Given the description of an element on the screen output the (x, y) to click on. 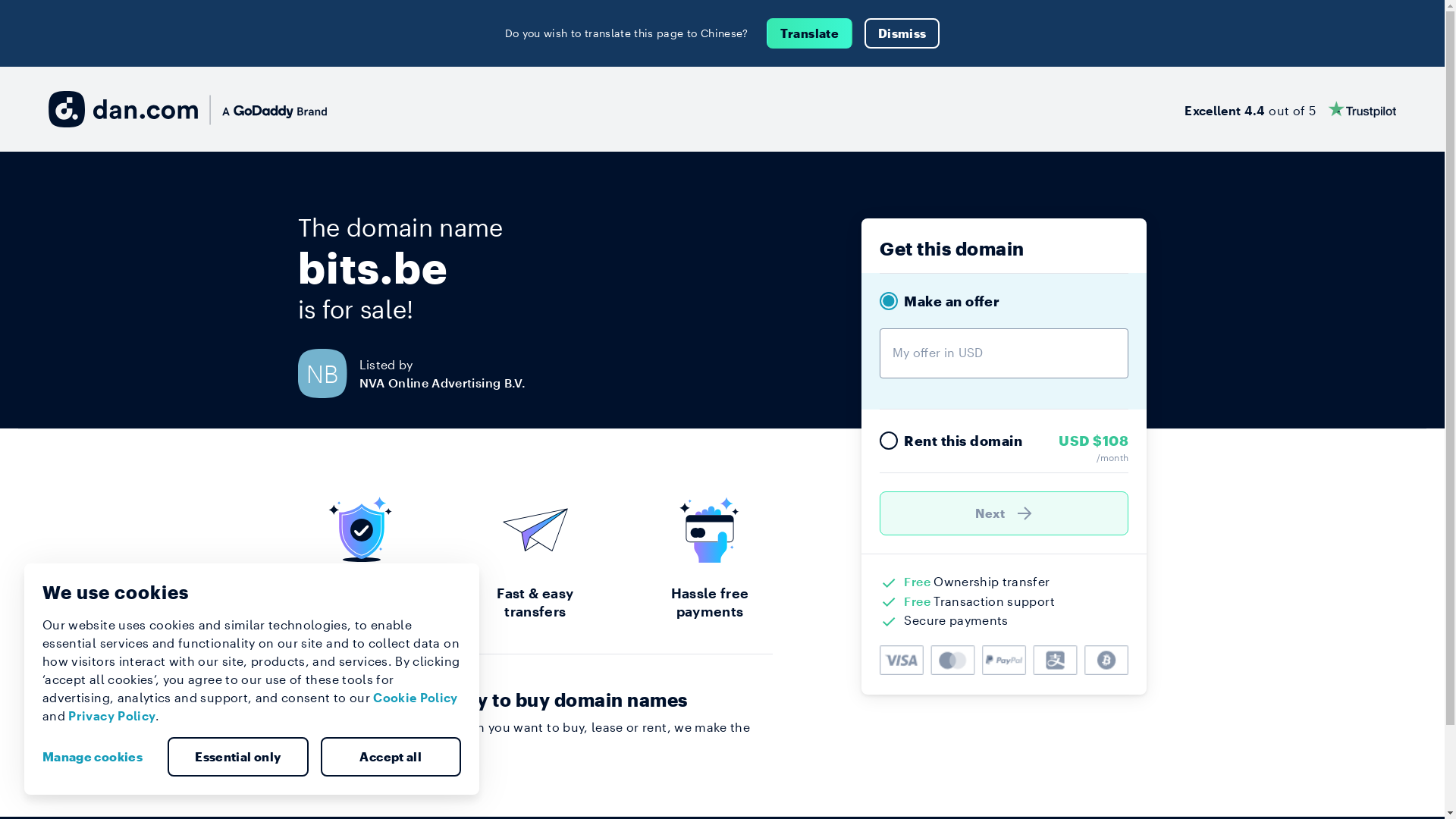
Dismiss Element type: text (901, 33)
Excellent 4.4 out of 5 Element type: text (1290, 109)
Translate Element type: text (809, 33)
Manage cookies Element type: text (98, 756)
Cookie Policy Element type: text (415, 697)
Essential only Element type: text (237, 756)
Privacy Policy Element type: text (111, 715)
Next
) Element type: text (1003, 513)
Accept all Element type: text (390, 756)
